Given the description of an element on the screen output the (x, y) to click on. 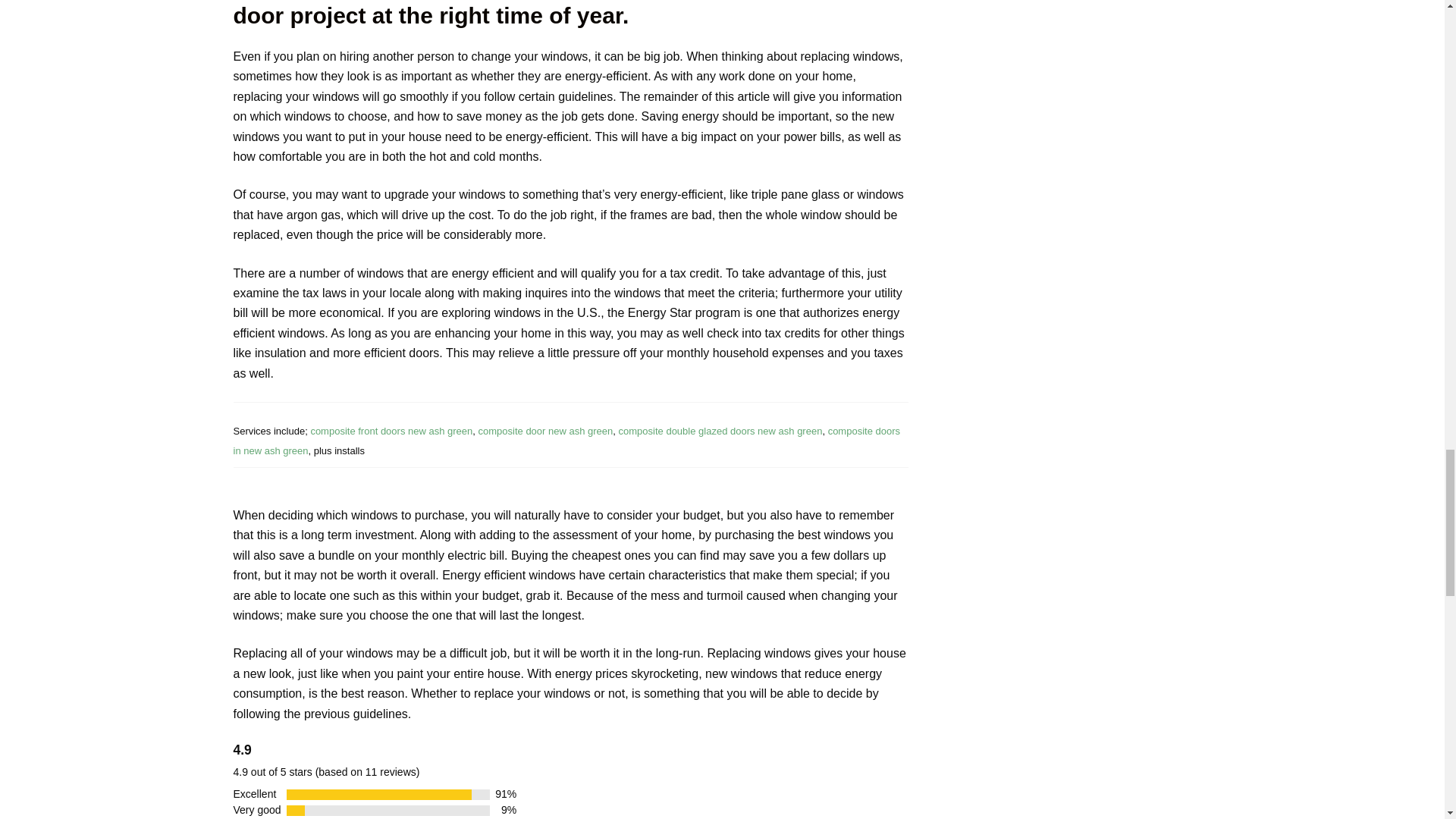
stiff handle (720, 430)
composite front doors new ash green (390, 430)
repairs (545, 430)
fit restrictors (390, 430)
composite door new ash green (545, 430)
lock problems (566, 440)
